Given the description of an element on the screen output the (x, y) to click on. 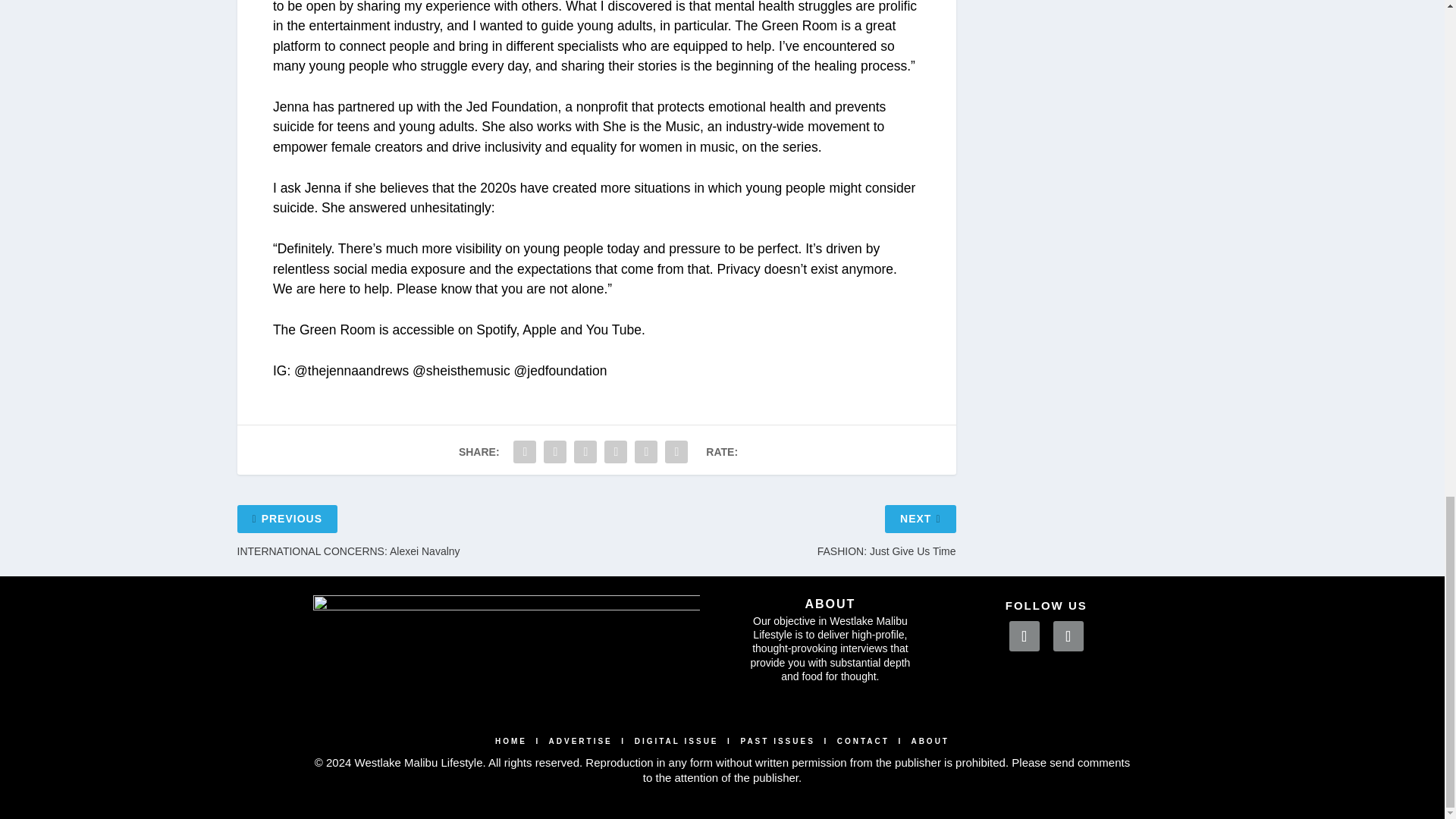
Share "MENTAL HEALTH: Jenna Andrews" via Email (645, 451)
Share "MENTAL HEALTH: Jenna Andrews" via LinkedIn (614, 451)
Share "MENTAL HEALTH: Jenna Andrews" via Pinterest (584, 451)
Share "MENTAL HEALTH: Jenna Andrews" via Facebook (524, 451)
Share "MENTAL HEALTH: Jenna Andrews" via Print (676, 451)
Share "MENTAL HEALTH: Jenna Andrews" via Twitter (555, 451)
